Given the description of an element on the screen output the (x, y) to click on. 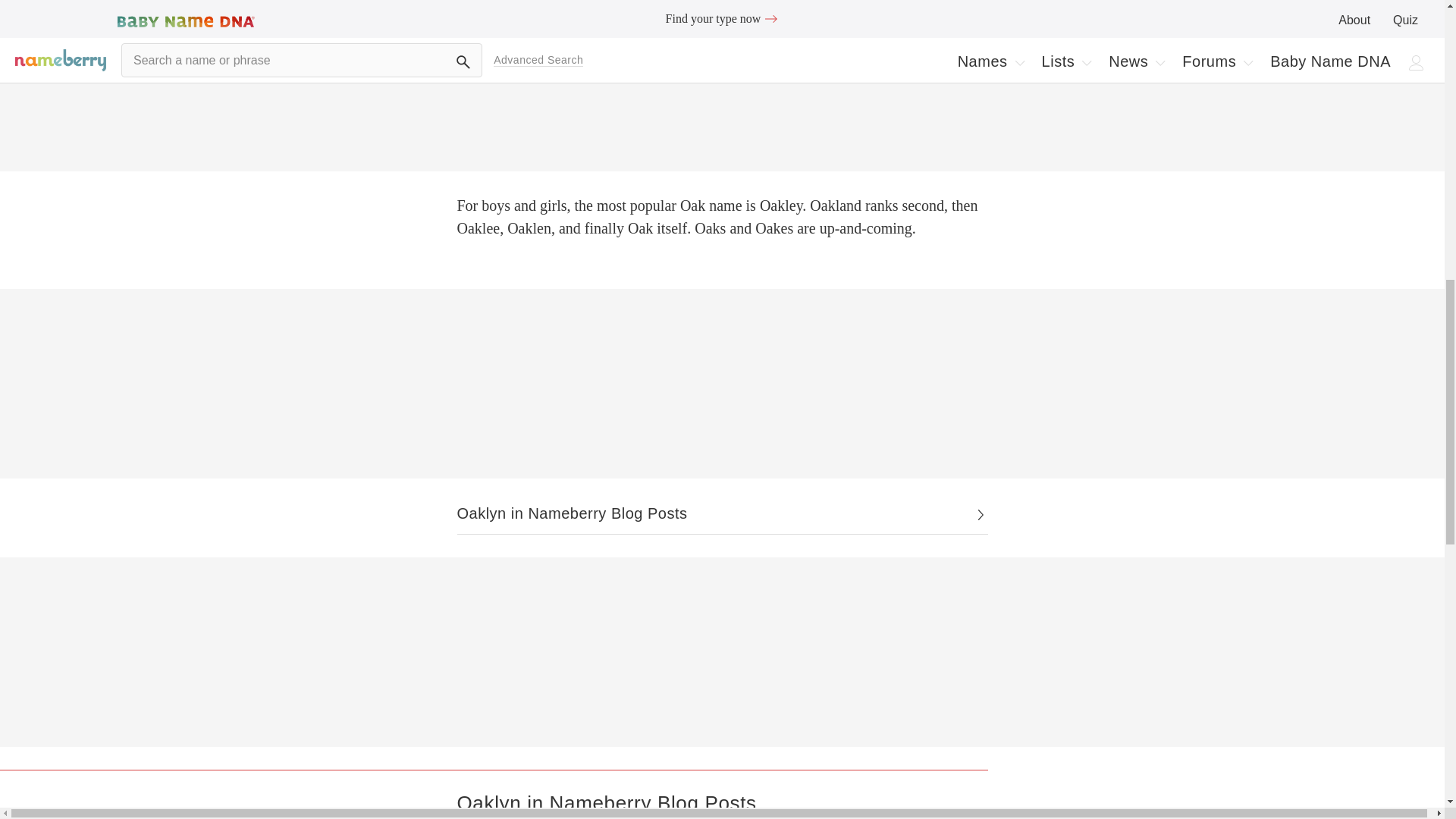
Chevron - Right (722, 513)
